Given the description of an element on the screen output the (x, y) to click on. 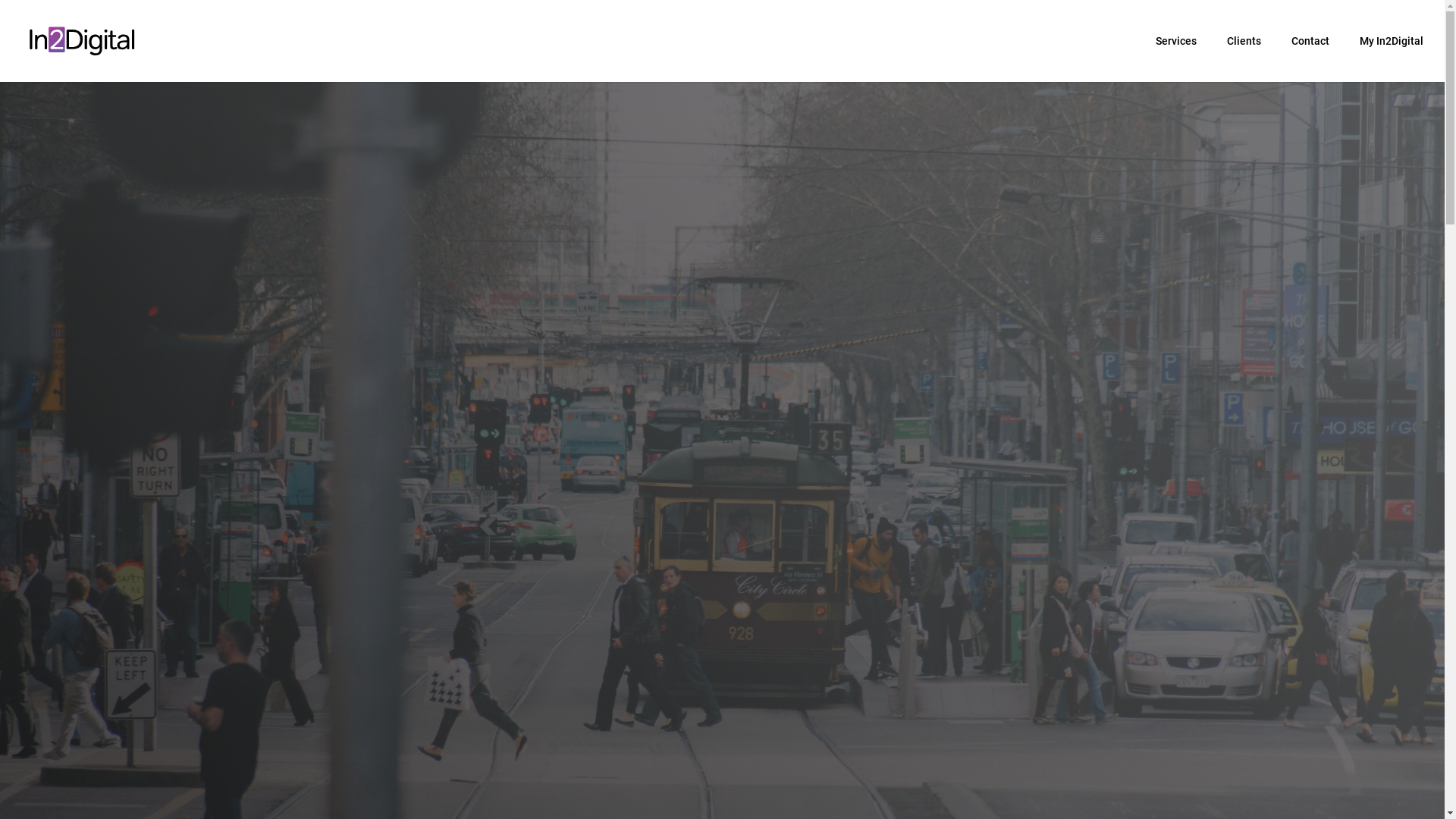
Contact Element type: text (1310, 40)
Clients Element type: text (1243, 40)
Services Element type: text (1175, 40)
My In2Digital Element type: text (1391, 40)
